Given the description of an element on the screen output the (x, y) to click on. 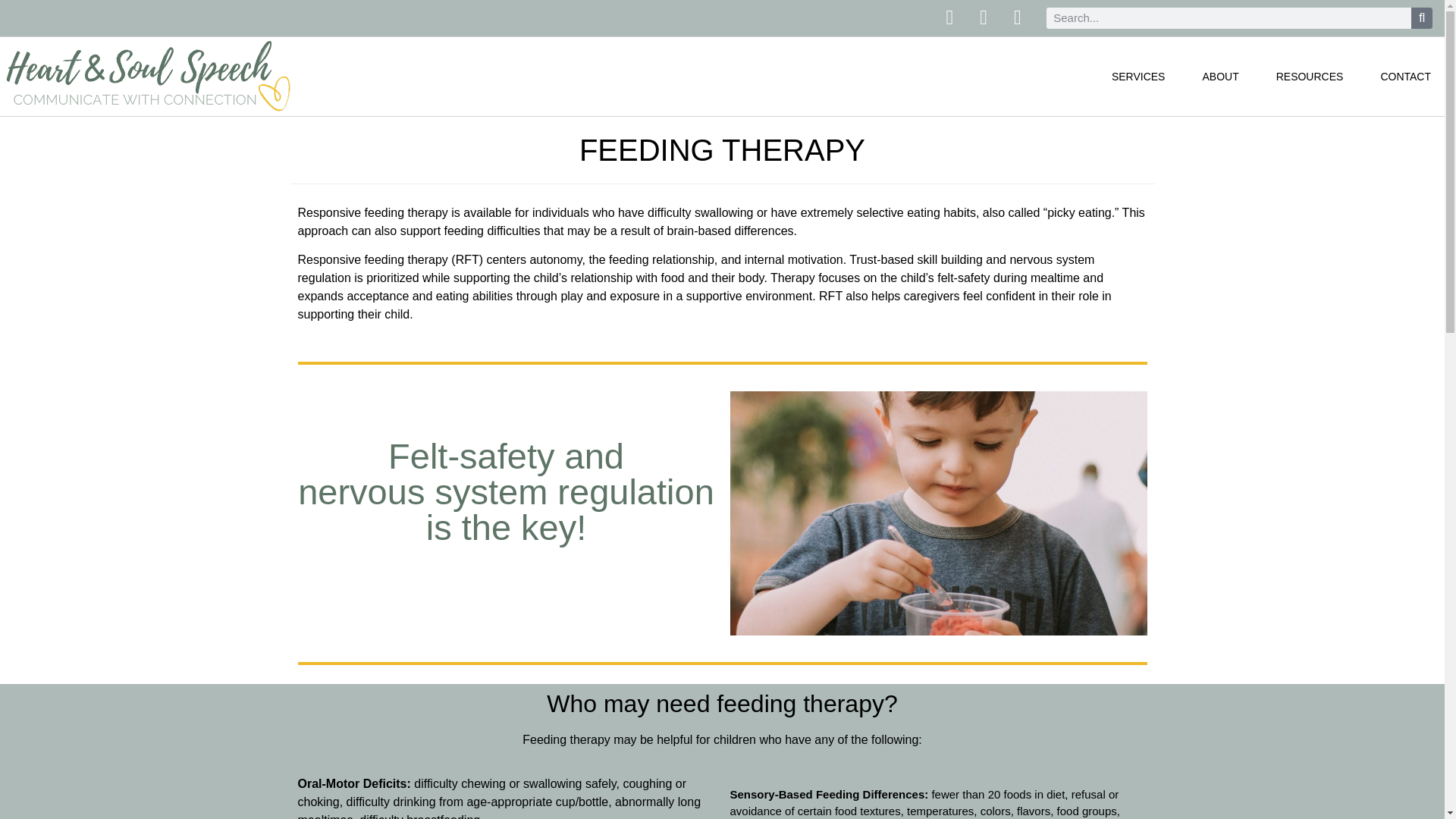
RESOURCES (1309, 76)
SERVICES (1138, 76)
anton-darius-sollers-295119 (938, 513)
ABOUT (1220, 76)
